Given the description of an element on the screen output the (x, y) to click on. 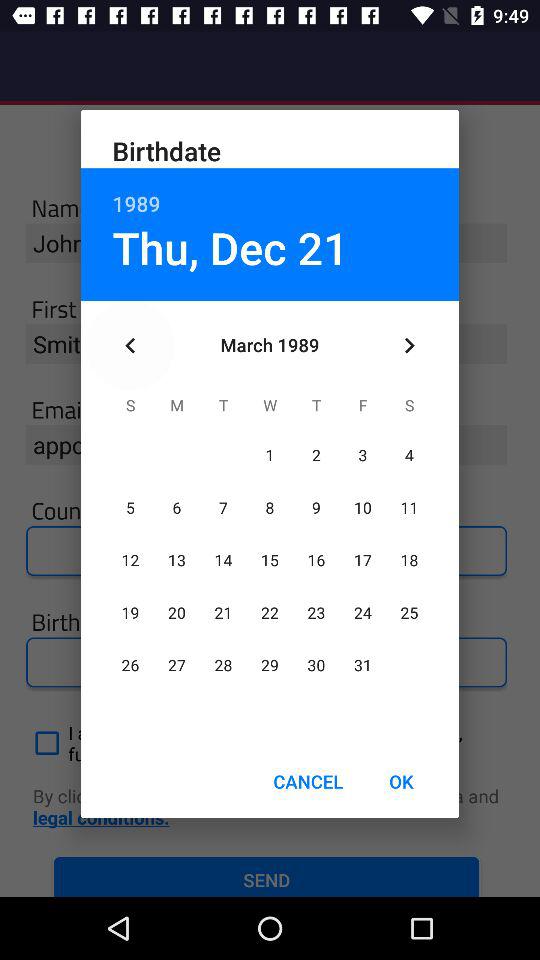
open item below the 1989 icon (230, 247)
